Given the description of an element on the screen output the (x, y) to click on. 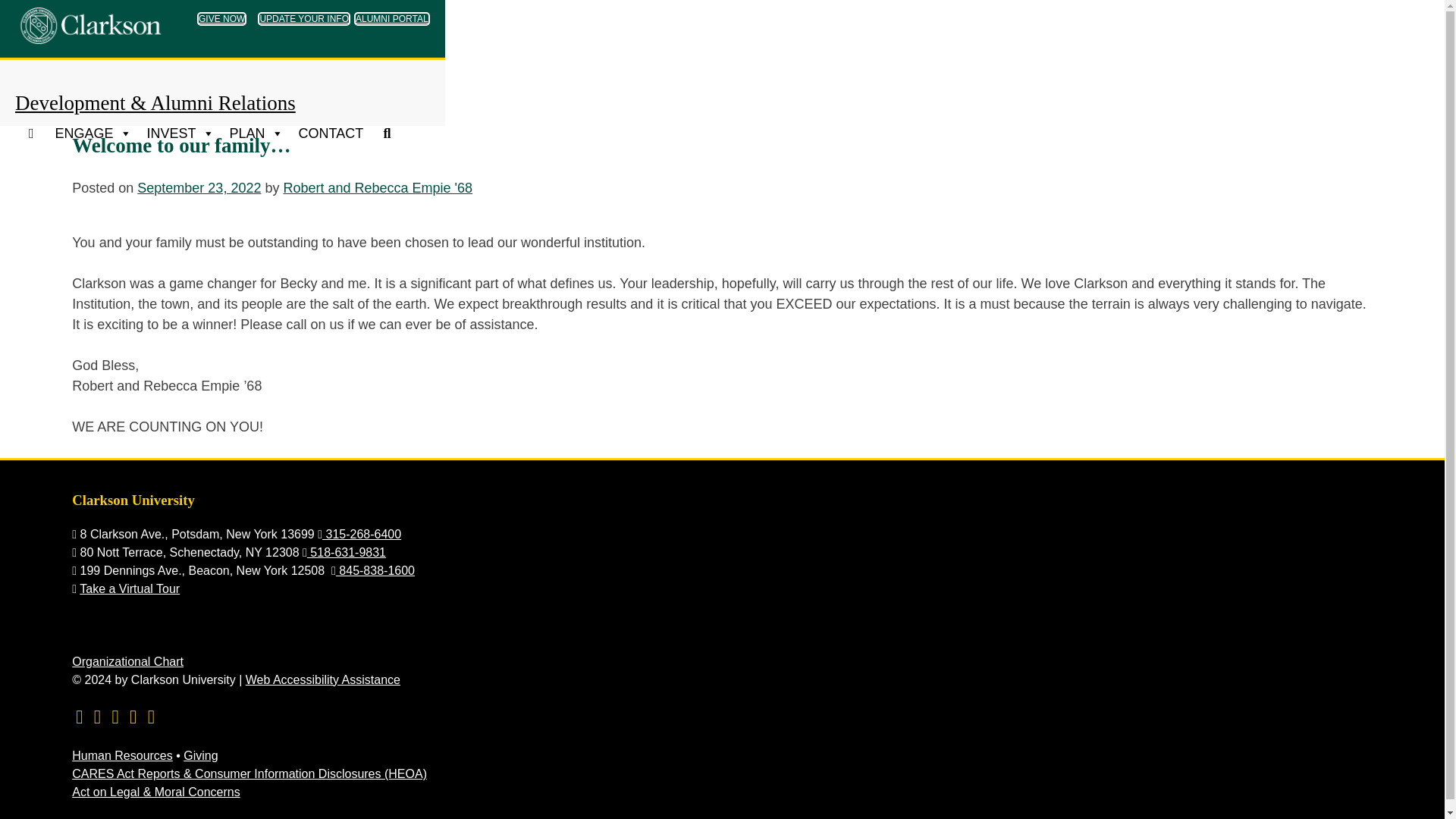
Clarkson University on LinkedIn (132, 716)
Clarkson University on Facebook (114, 716)
INVEST (180, 132)
ENGAGE (92, 132)
ALUMNI PORTAL (391, 18)
Clarkson University on Twitter (97, 716)
PLAN (256, 132)
GIVE NOW (221, 18)
Clarkson University on Instagram (151, 716)
UPDATE YOUR INFO (303, 18)
Clarkson University on YouTube (78, 716)
